Given the description of an element on the screen output the (x, y) to click on. 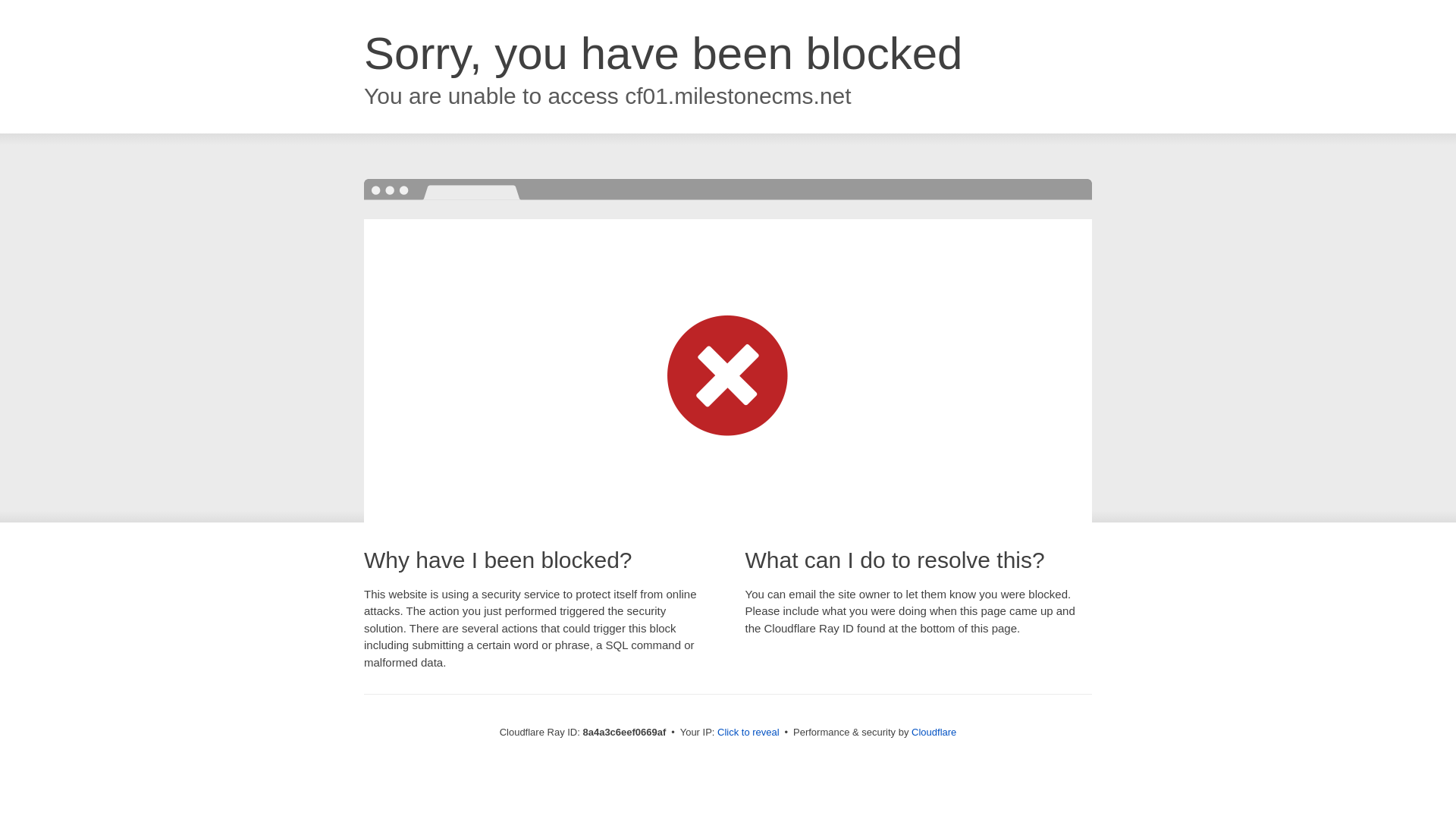
Cloudflare (933, 731)
Click to reveal (747, 732)
